Given the description of an element on the screen output the (x, y) to click on. 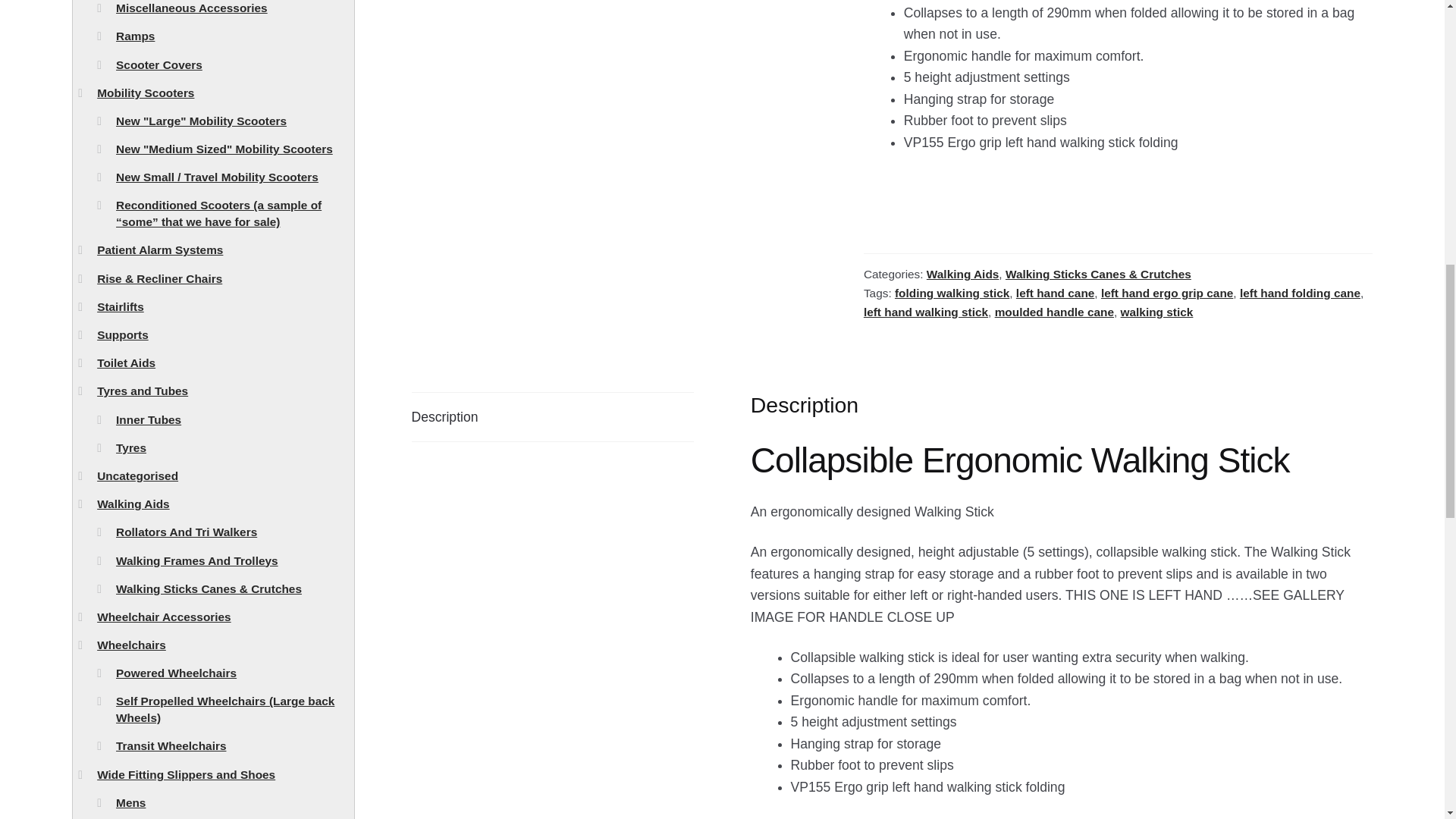
left hand folding cane (1299, 292)
left hand ergo grip cane (1166, 292)
Walking Aids (962, 273)
Description (553, 417)
folding walking stick (952, 292)
left hand cane (1055, 292)
walking stick (1157, 311)
moulded handle cane (1053, 311)
left hand walking stick (925, 311)
